Given the description of an element on the screen output the (x, y) to click on. 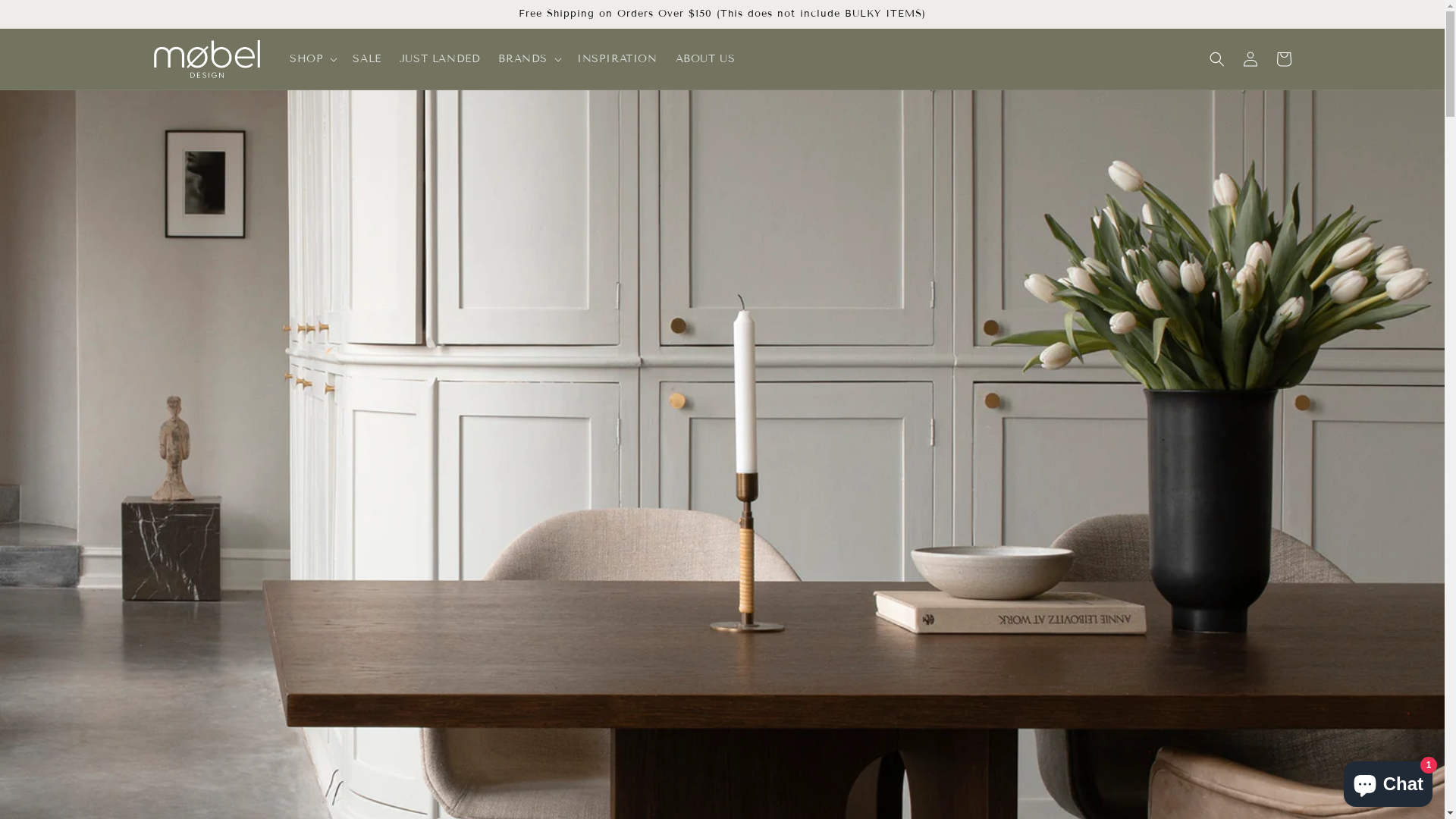
JUST LANDED Element type: text (439, 59)
Log in Element type: text (1249, 58)
ABOUT US Element type: text (705, 59)
INSPIRATION Element type: text (616, 59)
SALE Element type: text (366, 59)
Shopify online store chat Element type: hover (1388, 780)
Cart Element type: text (1282, 58)
